Given the description of an element on the screen output the (x, y) to click on. 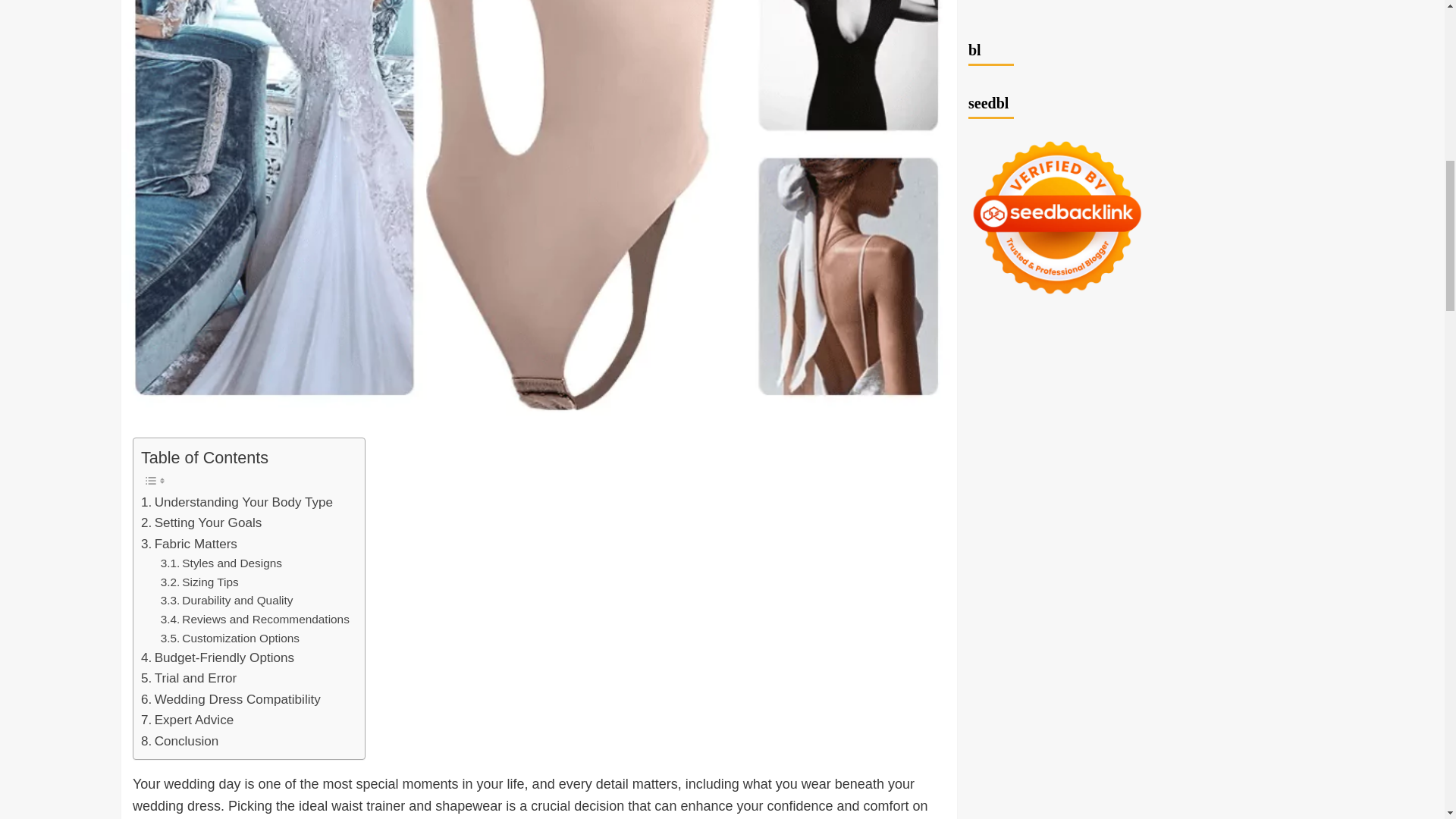
Budget-Friendly Options (217, 657)
Trial and Error (188, 678)
Customization Options (229, 638)
Sizing Tips (199, 582)
Wedding Dress Compatibility (230, 699)
Reviews and Recommendations (254, 619)
Styles and Designs (221, 563)
Conclusion (179, 741)
Setting Your Goals (201, 522)
Understanding Your Body Type (237, 502)
